Given the description of an element on the screen output the (x, y) to click on. 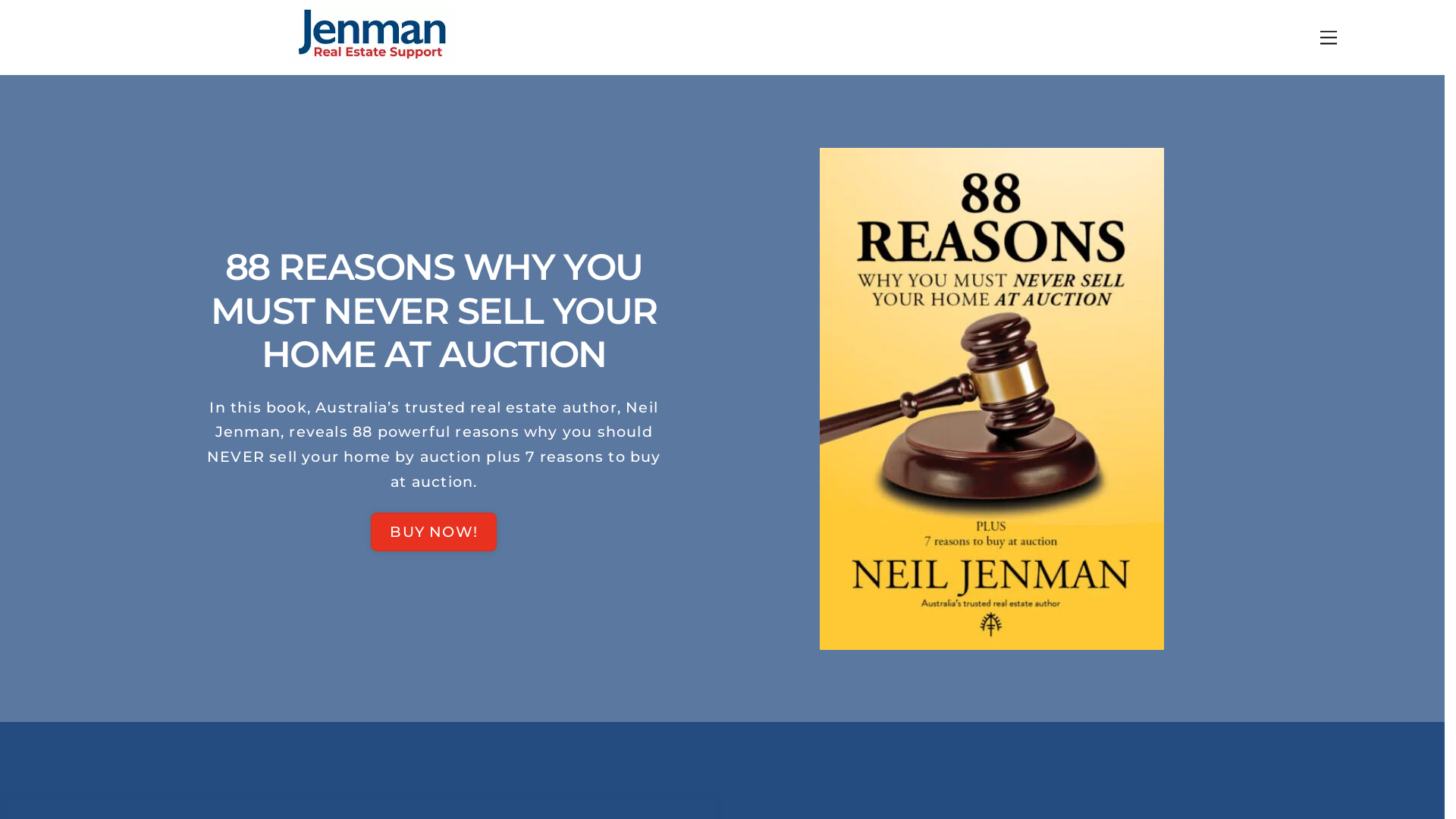
Jenman Real Estate Support short Element type: hover (371, 34)
88 Reasons Front Cover Element type: hover (991, 398)
BUY NOW! Element type: text (433, 531)
Menu Element type: text (1328, 37)
Jenman Support Element type: hover (371, 55)
